Given the description of an element on the screen output the (x, y) to click on. 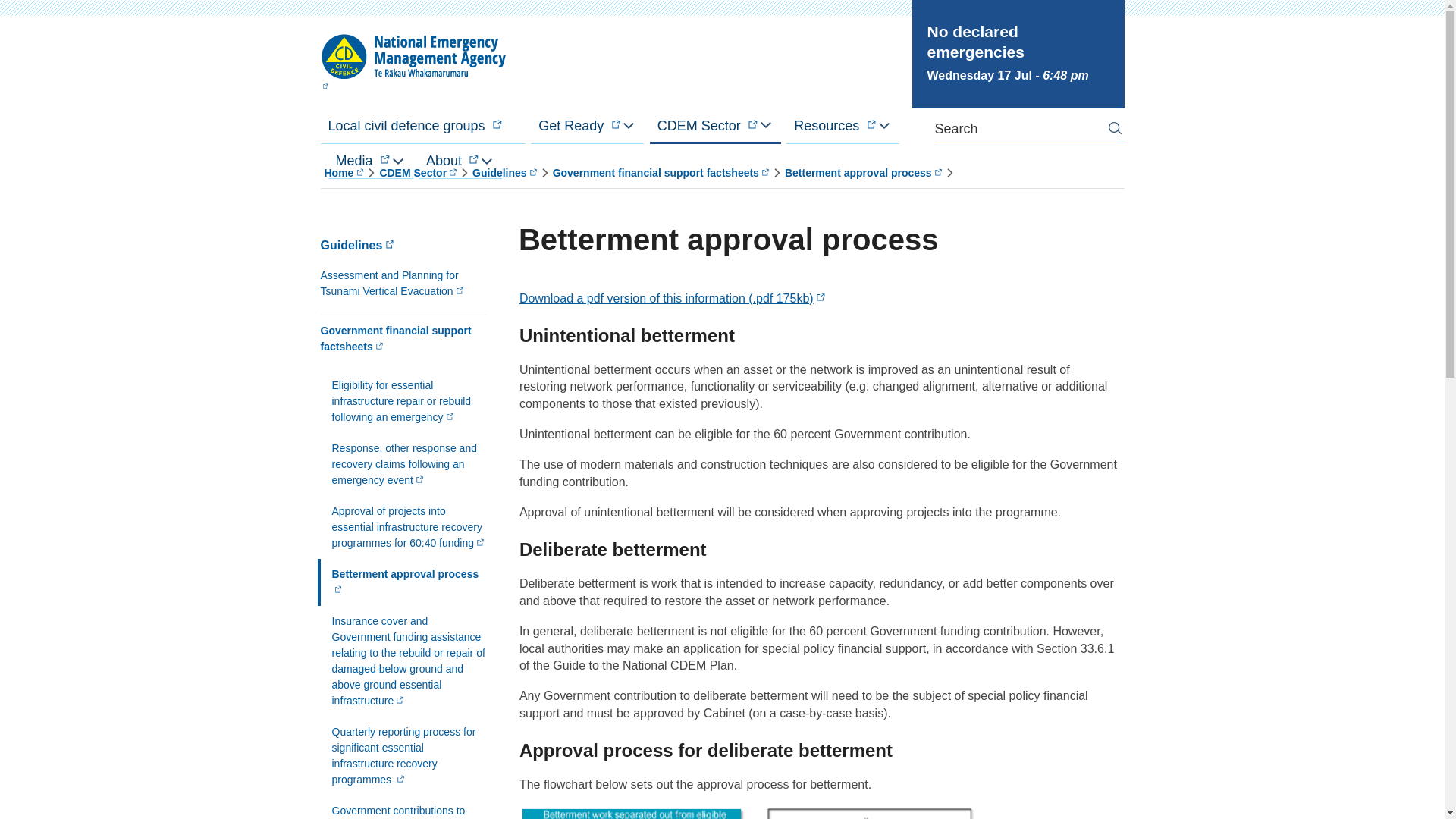
Local civil defence groups (422, 126)
Get Ready (587, 126)
Search (1114, 128)
CDEM Sector (714, 126)
Search (1114, 128)
